Given the description of an element on the screen output the (x, y) to click on. 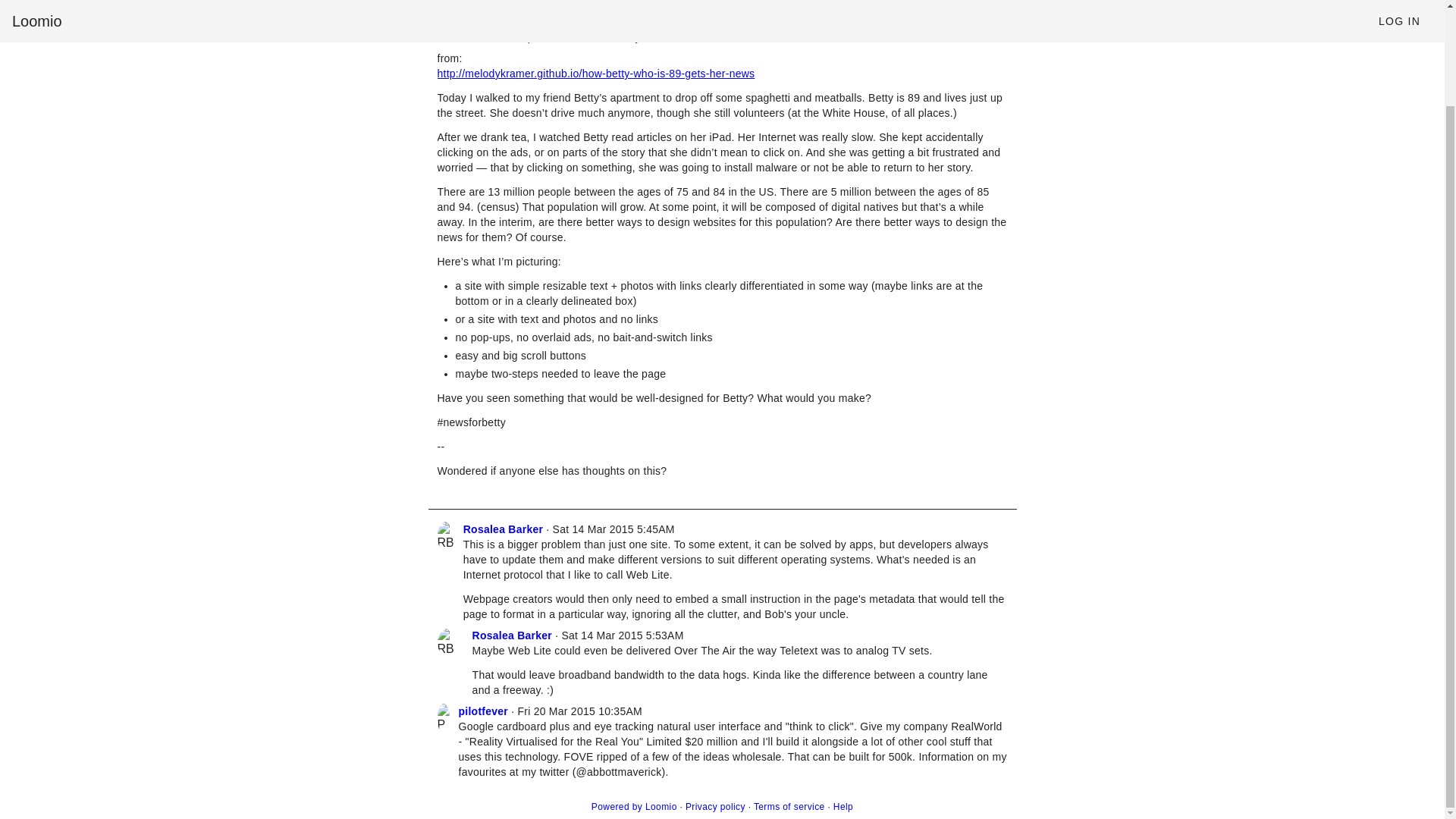
Rosalea Barker (503, 529)
Terms of service (789, 806)
Help (842, 806)
2015-03-14 05:45:58 UTC (614, 529)
2015-03-14 05:53:39 UTC (621, 635)
2015-03-20 10:35:18 UTC (579, 711)
Rosalea Barker (511, 635)
Miles Thompson (510, 37)
Powered by Loomio (634, 806)
Privacy policy (715, 806)
